Given the description of an element on the screen output the (x, y) to click on. 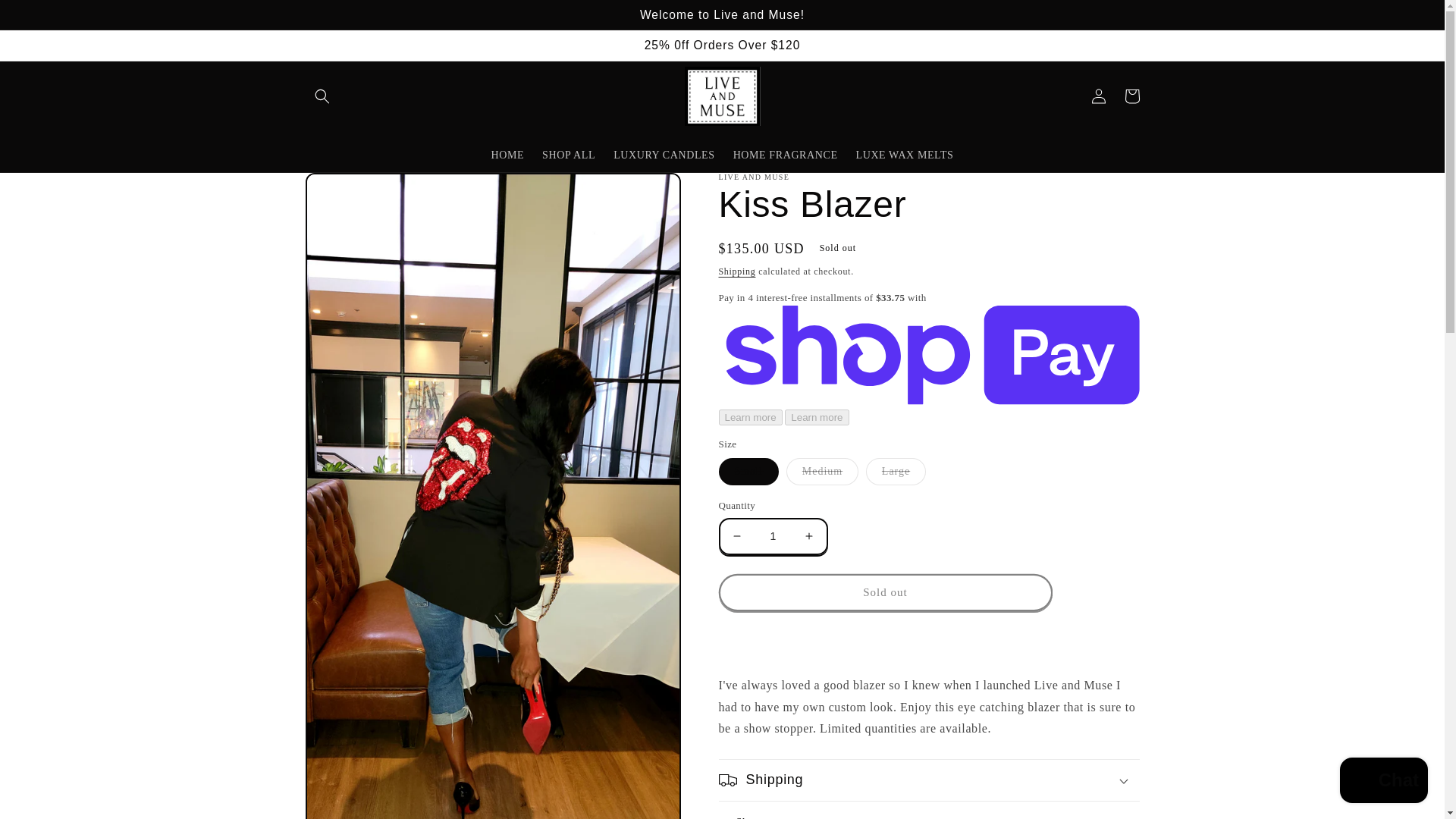
LUXE WAX MELTS (904, 155)
Cart (1131, 96)
LUXURY CANDLES (663, 155)
SHOP ALL (568, 155)
Skip to content (46, 18)
1 (773, 536)
Log in (1098, 96)
Shopify online store chat (1383, 781)
HOME (506, 155)
